Given the description of an element on the screen output the (x, y) to click on. 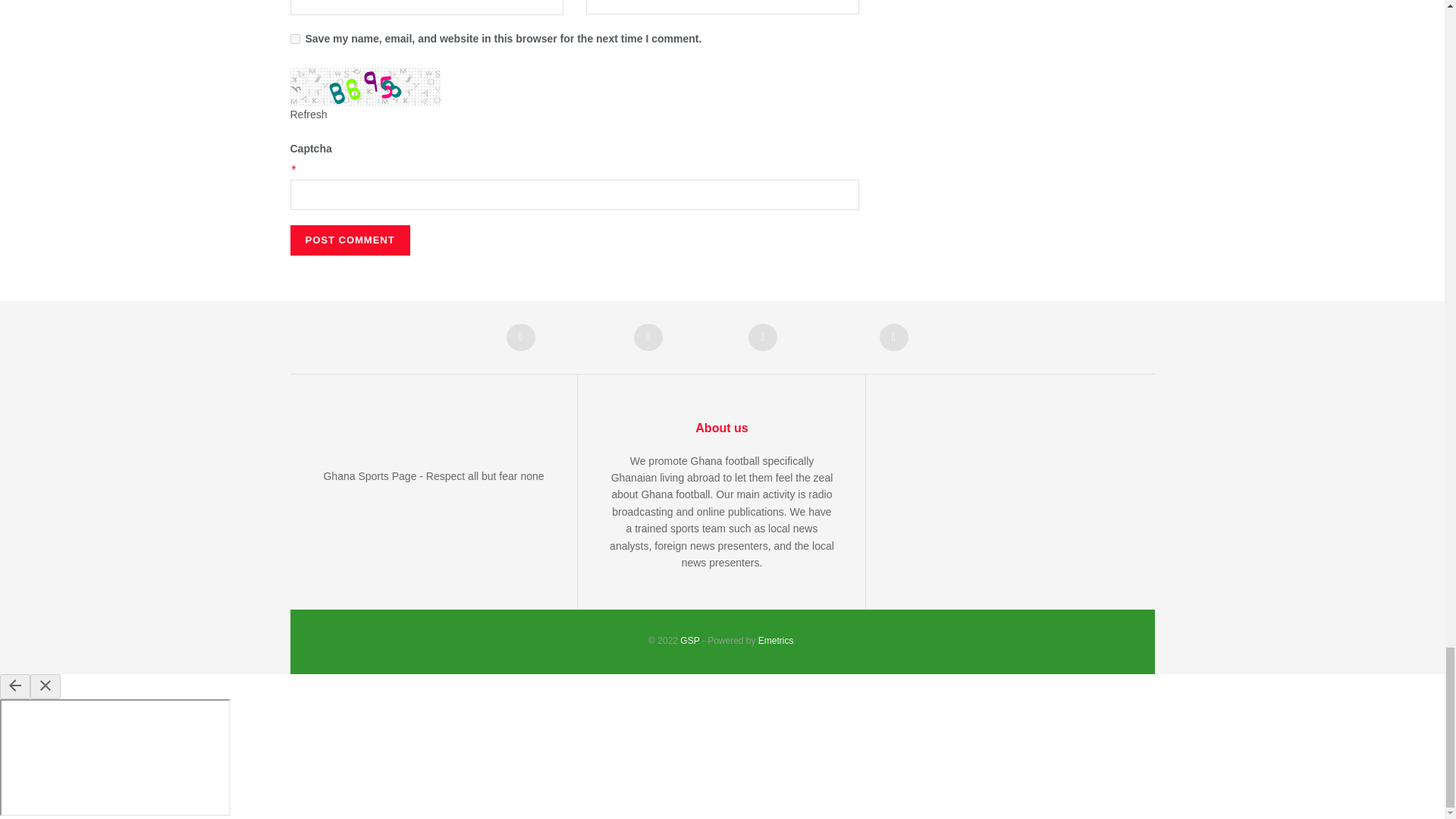
Click to refresh Captcha Image (365, 86)
Emetrics (775, 640)
Click to refresh Captcha Image (307, 114)
yes (294, 39)
GhanaSportsPage -Premium sports content (688, 640)
Enter Captcha here (574, 194)
Post Comment (349, 240)
